Given the description of an element on the screen output the (x, y) to click on. 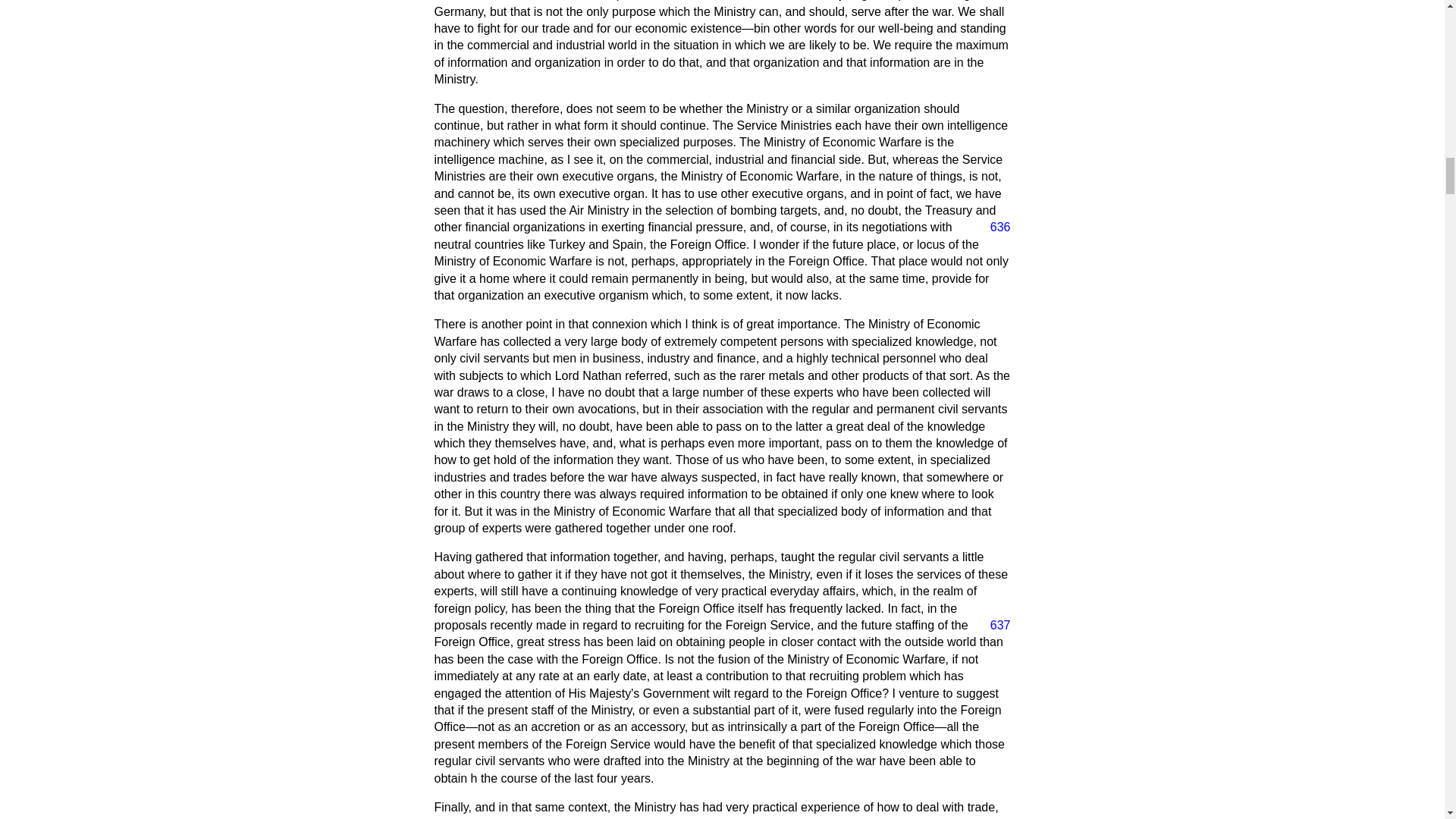
637 (994, 625)
636 (994, 227)
